Given the description of an element on the screen output the (x, y) to click on. 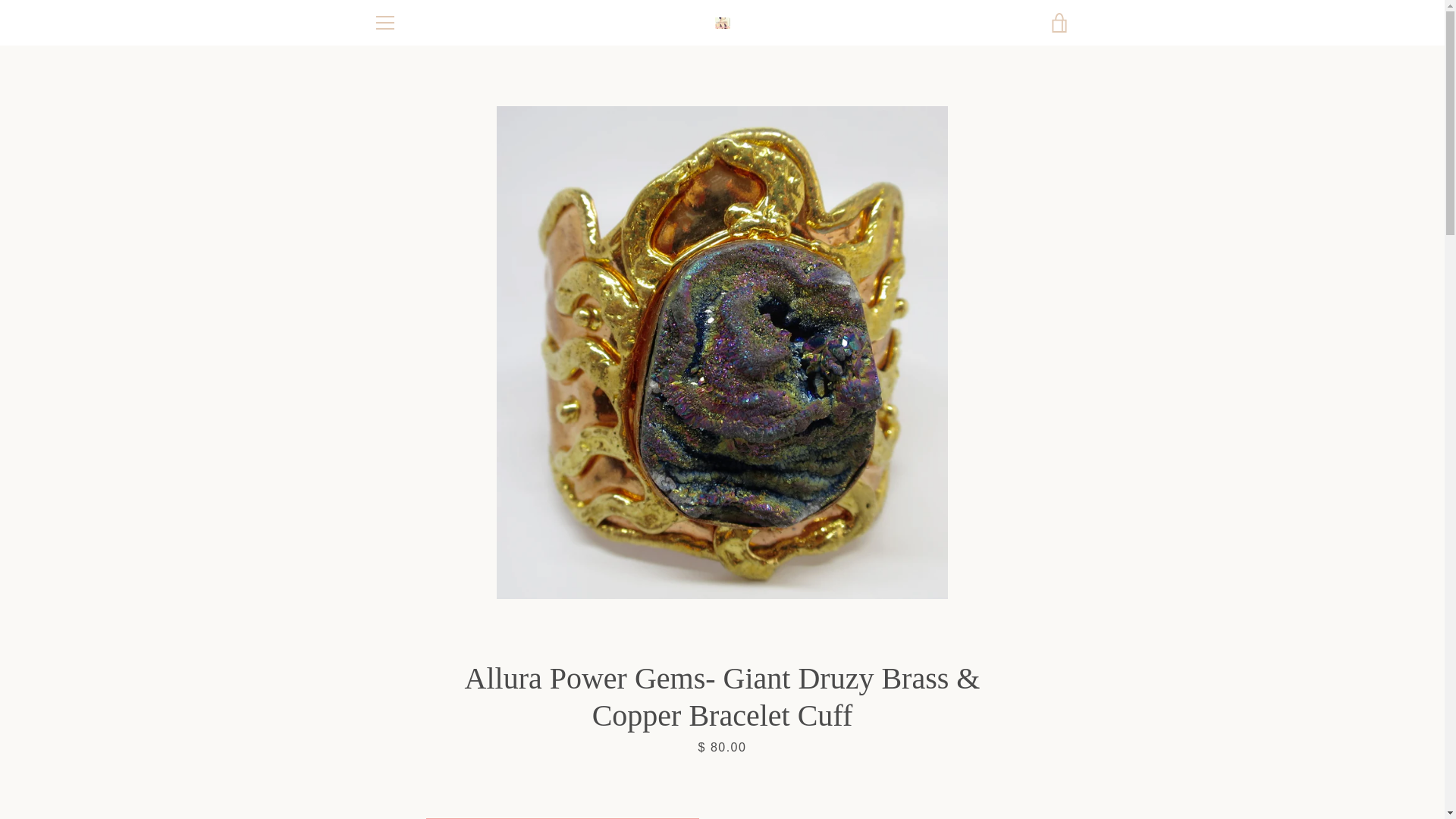
Ok (1039, 675)
VIEW CART (1059, 22)
EXPAND NAVIGATION (384, 22)
